Given the description of an element on the screen output the (x, y) to click on. 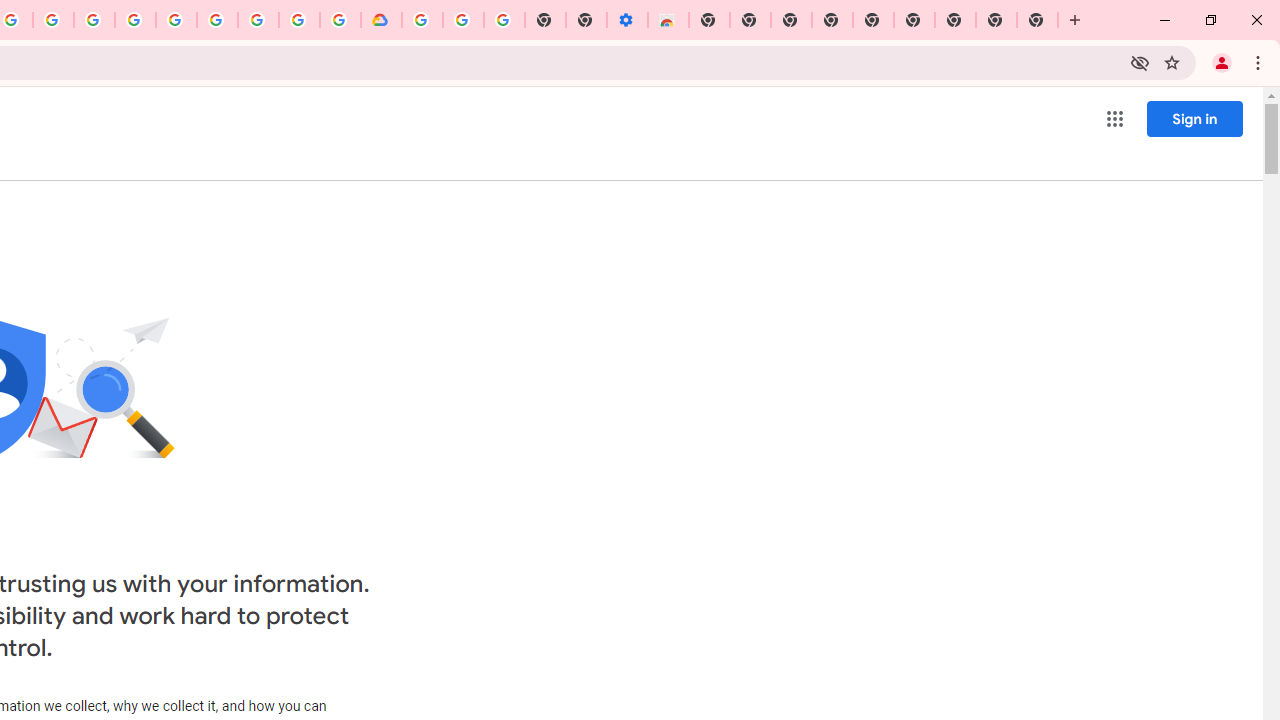
Sign in - Google Accounts (421, 20)
Turn cookies on or off - Computer - Google Account Help (503, 20)
New Tab (708, 20)
New Tab (1037, 20)
Google Account Help (217, 20)
Browse the Google Chrome Community - Google Chrome Community (340, 20)
